Given the description of an element on the screen output the (x, y) to click on. 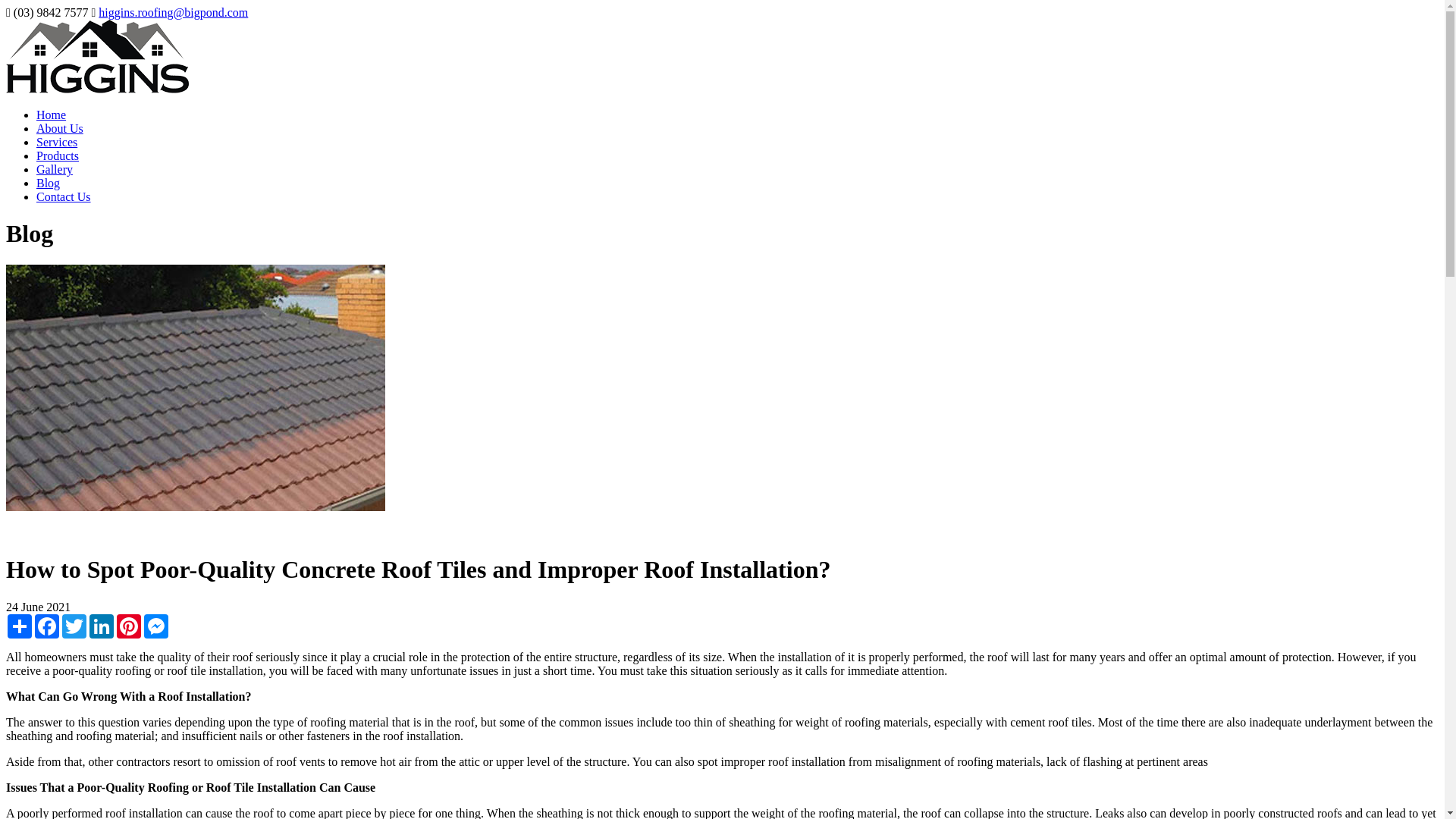
Pinterest (128, 626)
Products (57, 155)
Facebook (47, 626)
LinkedIn (101, 626)
Contact Us (63, 196)
Messenger (156, 626)
Home (50, 114)
Blog (47, 182)
Twitter (74, 626)
About Us (59, 128)
Higgins Roofing (97, 88)
Gallery (54, 169)
Services (56, 141)
